Given the description of an element on the screen output the (x, y) to click on. 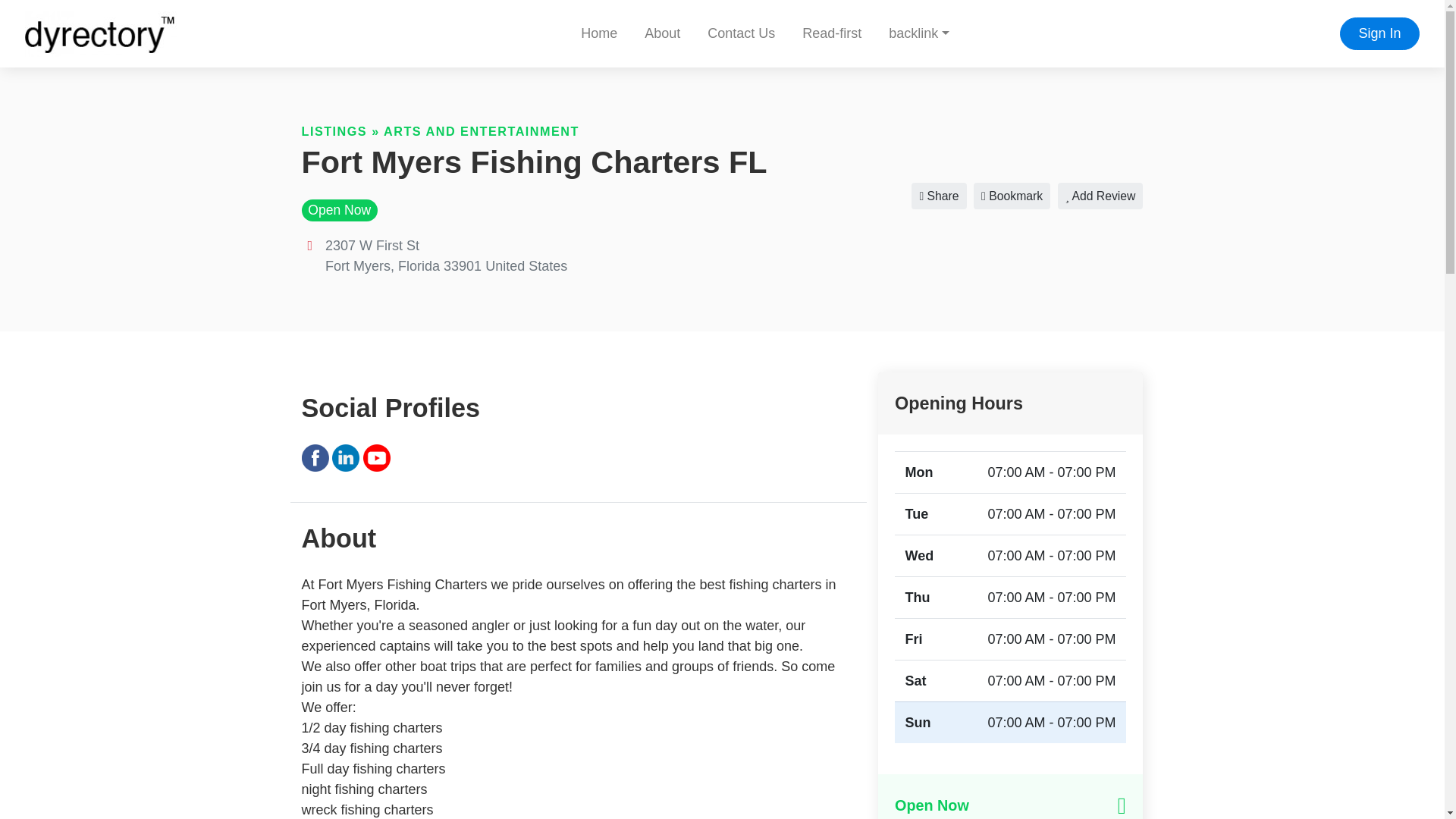
backlink (918, 33)
About (662, 33)
Add Review (1100, 195)
Sign In (1379, 33)
Home (598, 33)
LISTINGS (334, 131)
Read-first (832, 33)
ARTS AND ENTERTAINMENT (481, 131)
Bookmark (1011, 195)
Contact Us (741, 33)
